Given the description of an element on the screen output the (x, y) to click on. 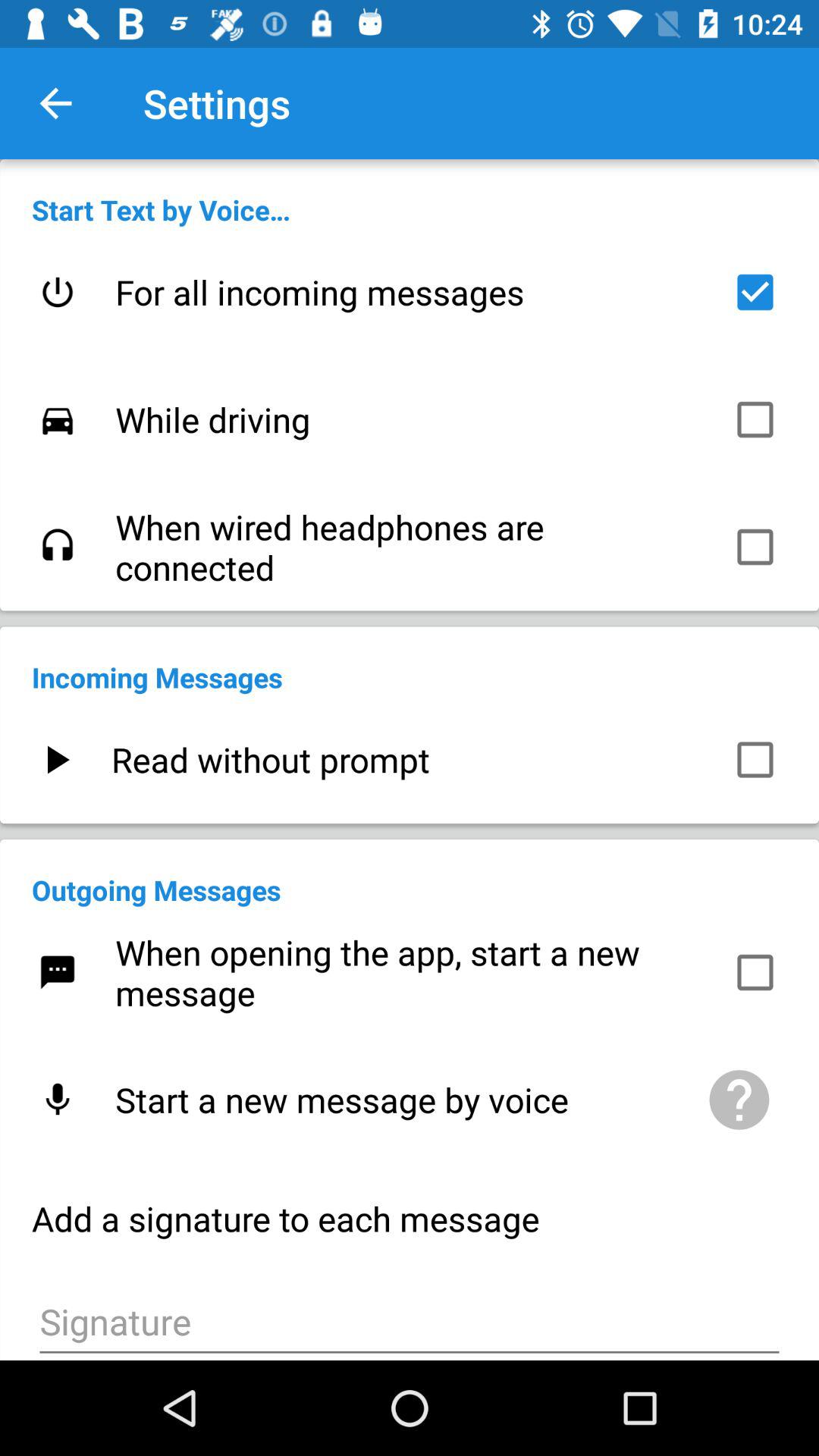
press icon to the right of the for all incoming (755, 292)
